Given the description of an element on the screen output the (x, y) to click on. 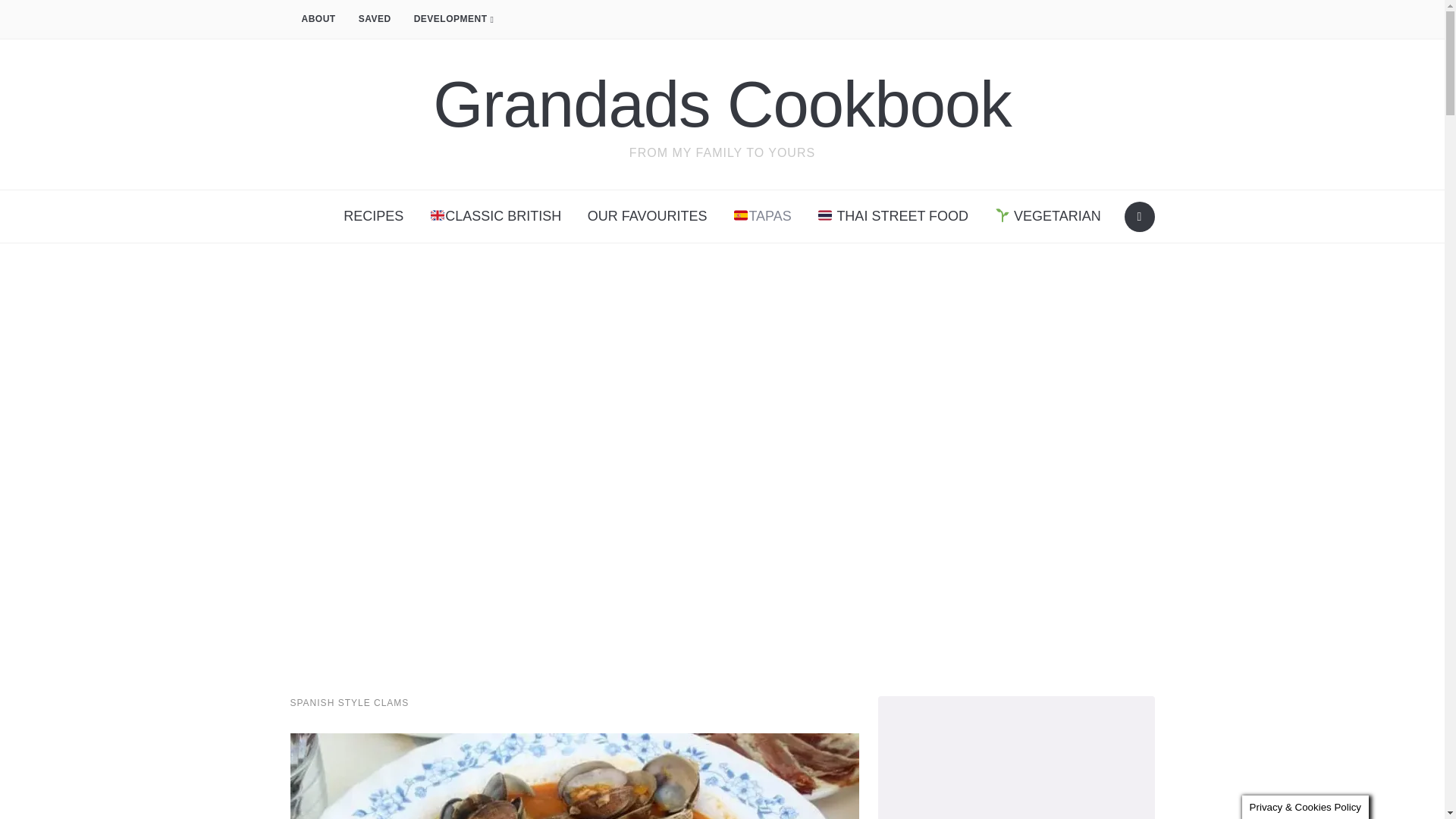
ABOUT (317, 19)
SAVED (375, 19)
DEVELOPMENT (454, 19)
Grandads Cookbook (721, 103)
Search (1139, 216)
From my family to yours (721, 103)
